Given the description of an element on the screen output the (x, y) to click on. 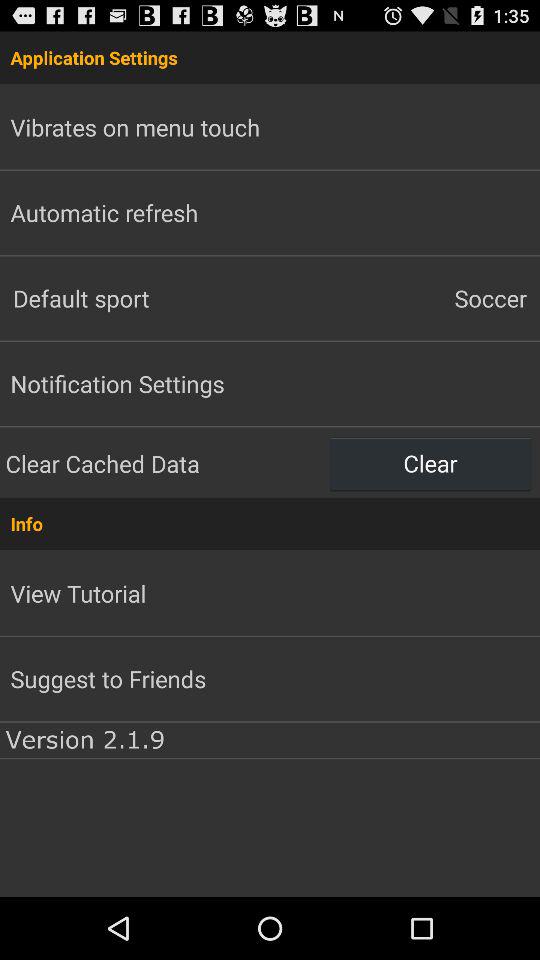
open icon above clear (405, 298)
